Given the description of an element on the screen output the (x, y) to click on. 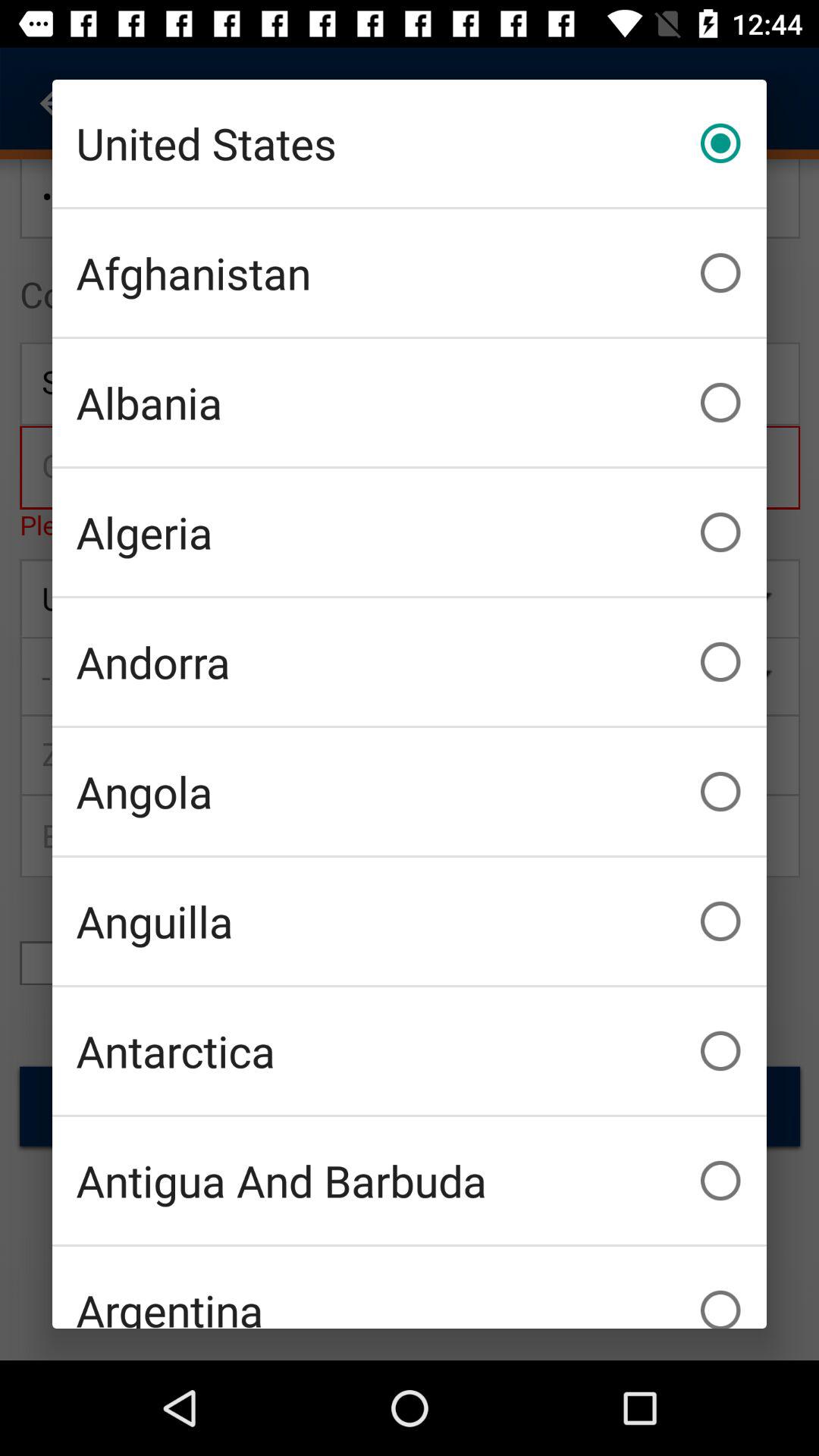
choose item below albania item (409, 532)
